Given the description of an element on the screen output the (x, y) to click on. 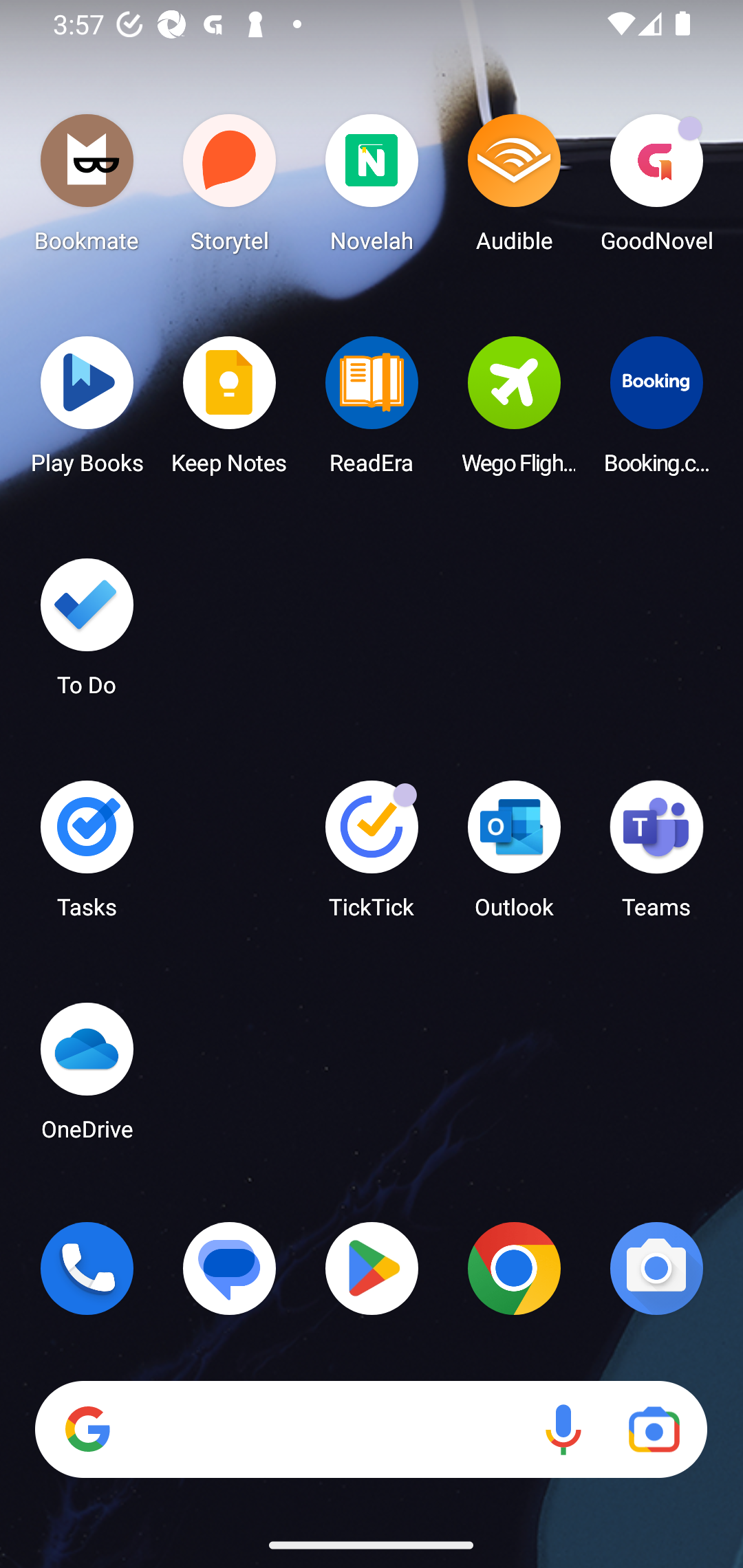
Bookmate (86, 188)
Storytel (229, 188)
Novelah (371, 188)
Audible (513, 188)
GoodNovel GoodNovel has 1 notification (656, 188)
Play Books (86, 410)
Keep Notes (229, 410)
ReadEra (371, 410)
Wego Flights & Hotels (513, 410)
Booking.com (656, 410)
To Do (86, 633)
Tasks (86, 854)
TickTick TickTick has 3 notifications (371, 854)
Outlook (513, 854)
Teams (656, 854)
OneDrive (86, 1076)
Phone (86, 1268)
Messages (229, 1268)
Play Store (371, 1268)
Chrome (513, 1268)
Camera (656, 1268)
Search Voice search Google Lens (370, 1429)
Voice search (562, 1429)
Google Lens (653, 1429)
